Given the description of an element on the screen output the (x, y) to click on. 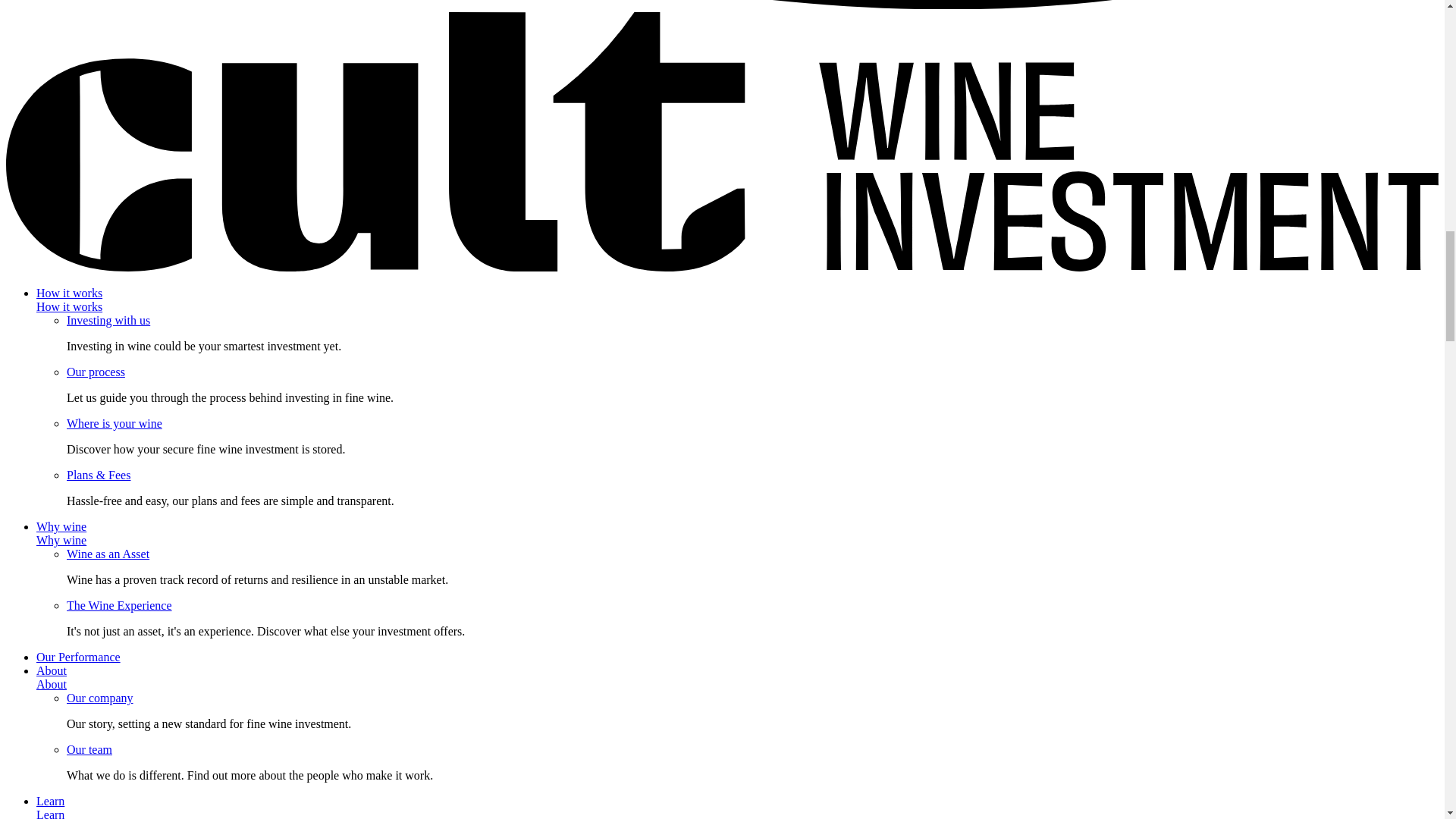
WHY WINE (410, 30)
GET STARTED (1179, 29)
REPORTS (1217, 90)
MAGAZINE (1138, 90)
EXPLORE WINES (961, 90)
WINE ACADEMY (296, 90)
HOW IT WORKS (311, 30)
Wine Market News (748, 733)
OUR PERFORMANCE (523, 30)
INSIGHTS (1059, 90)
BOOK A CALL (775, 30)
